Given the description of an element on the screen output the (x, y) to click on. 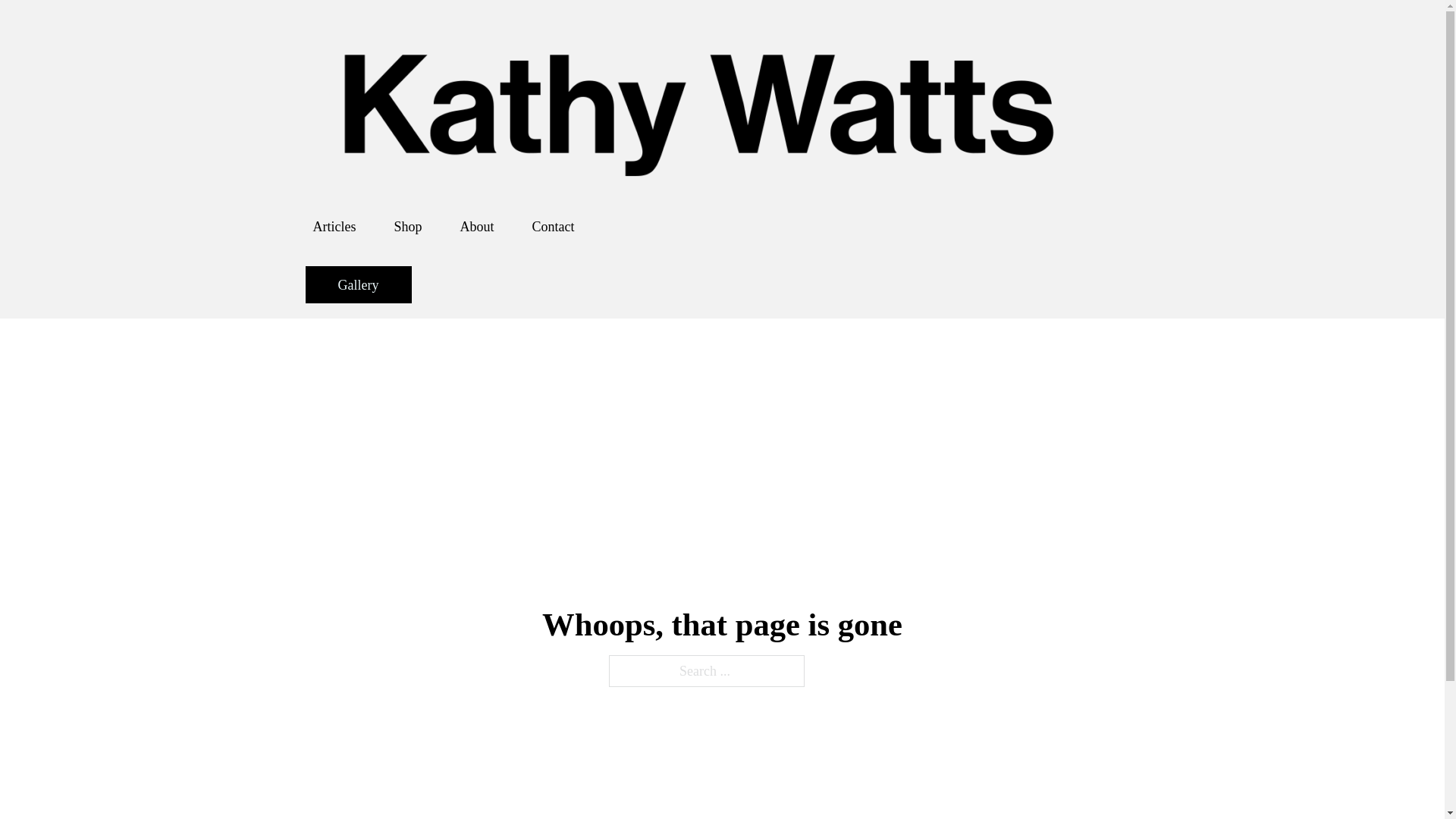
Contact (553, 226)
About (475, 226)
Articles (333, 226)
Shop (407, 226)
Gallery (357, 284)
